Given the description of an element on the screen output the (x, y) to click on. 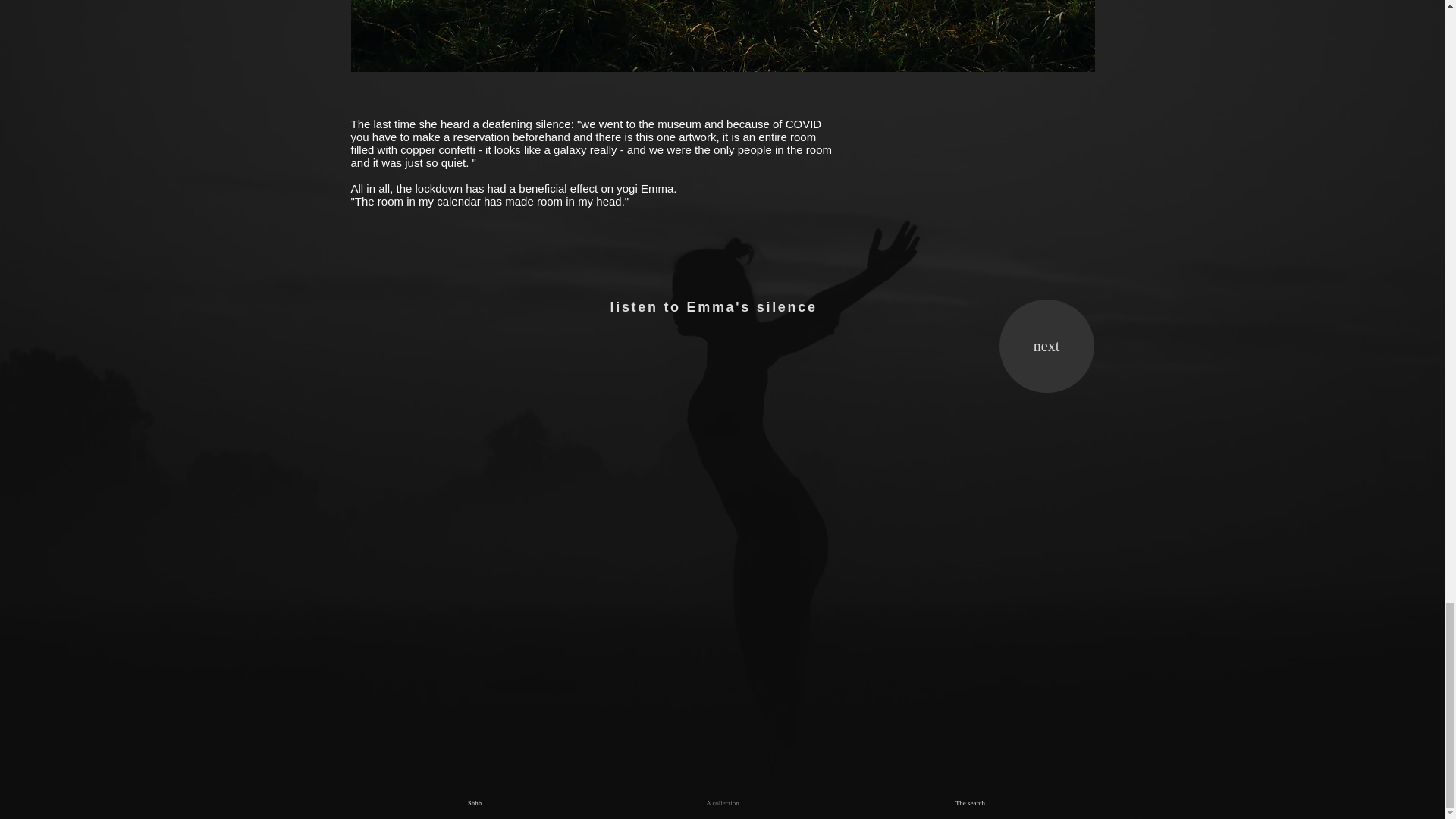
The search (969, 802)
Shhh (474, 802)
next (1046, 346)
A collection (722, 802)
